Given the description of an element on the screen output the (x, y) to click on. 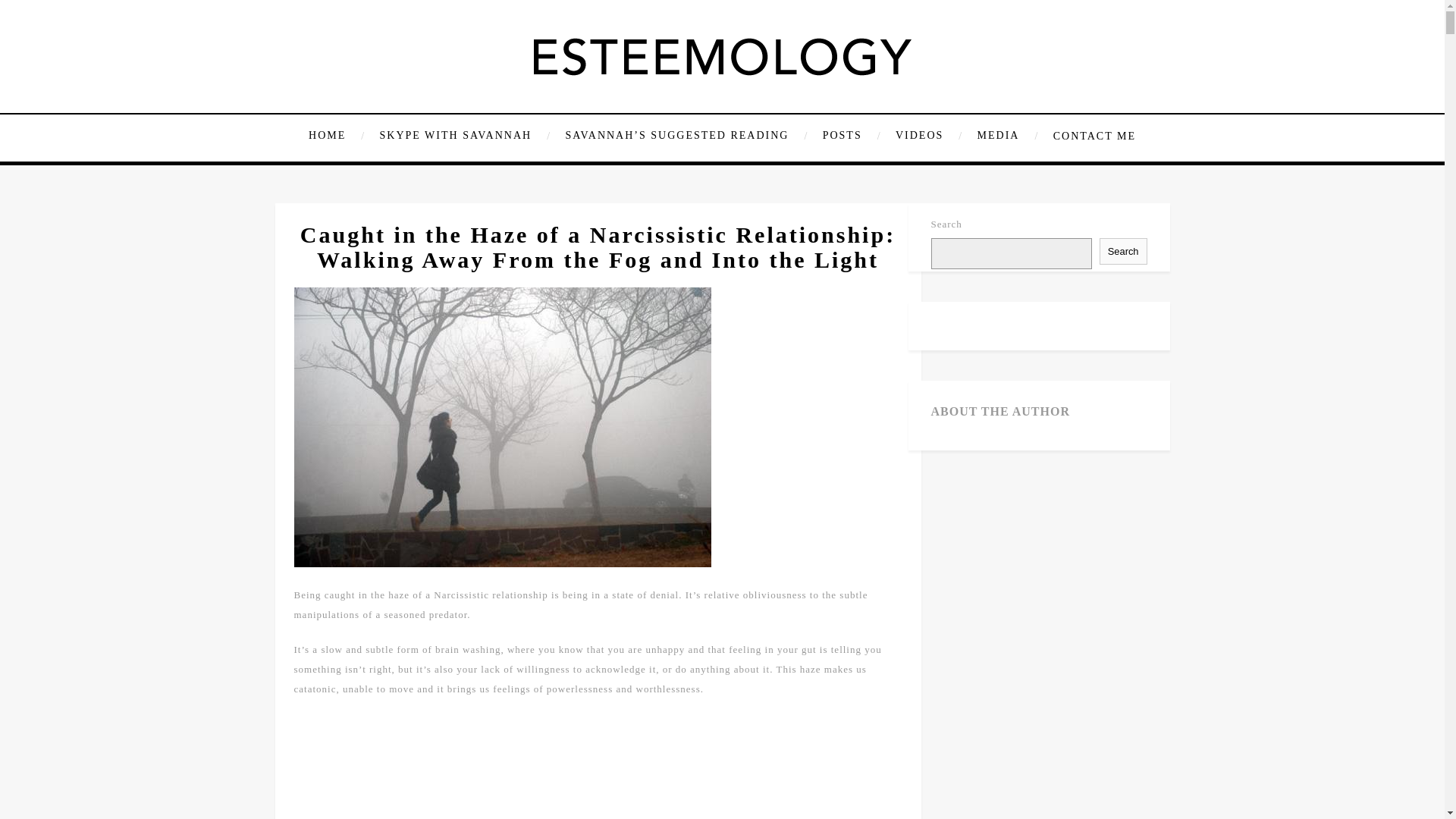
Advertisement (596, 767)
MEDIA (1005, 136)
SKYPE WITH SAVANNAH (463, 136)
HOME (338, 136)
POSTS (850, 136)
VIDEOS (927, 136)
CONTACT ME (1090, 136)
